Given the description of an element on the screen output the (x, y) to click on. 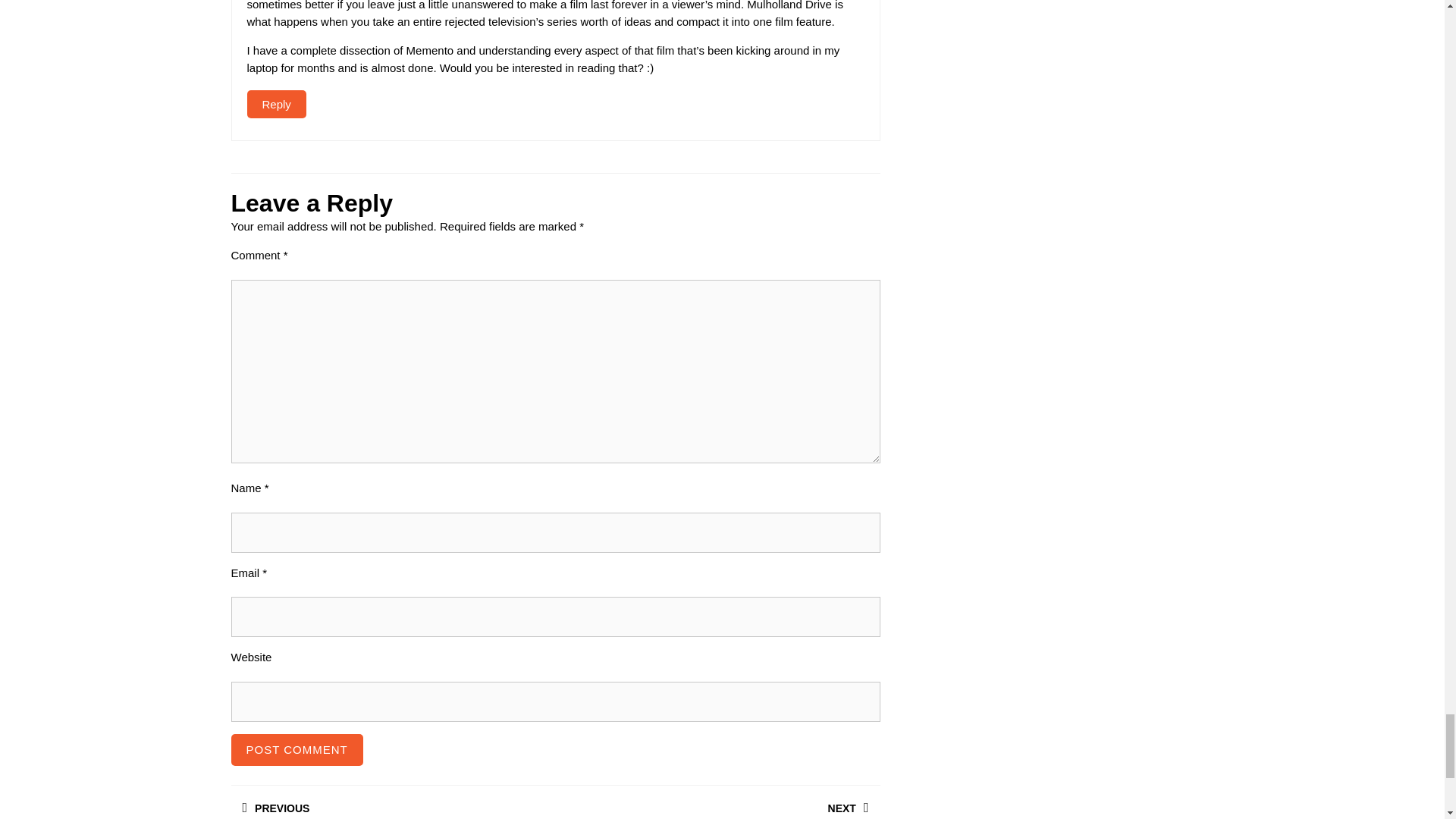
Post Comment (716, 801)
Reply (296, 749)
Post Comment (276, 103)
